Given the description of an element on the screen output the (x, y) to click on. 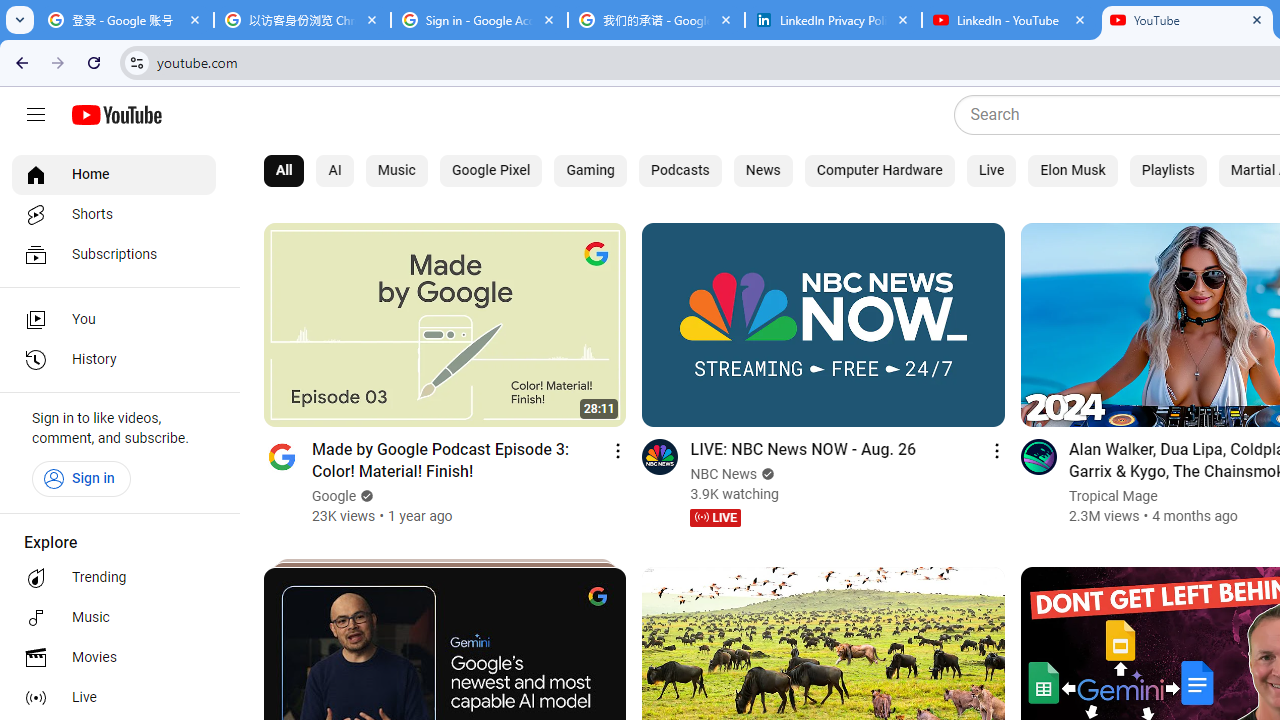
Tropical Mage (1112, 496)
Trending (113, 578)
LinkedIn Privacy Policy (833, 20)
AI (335, 170)
Podcasts (679, 170)
Music (113, 617)
